Given the description of an element on the screen output the (x, y) to click on. 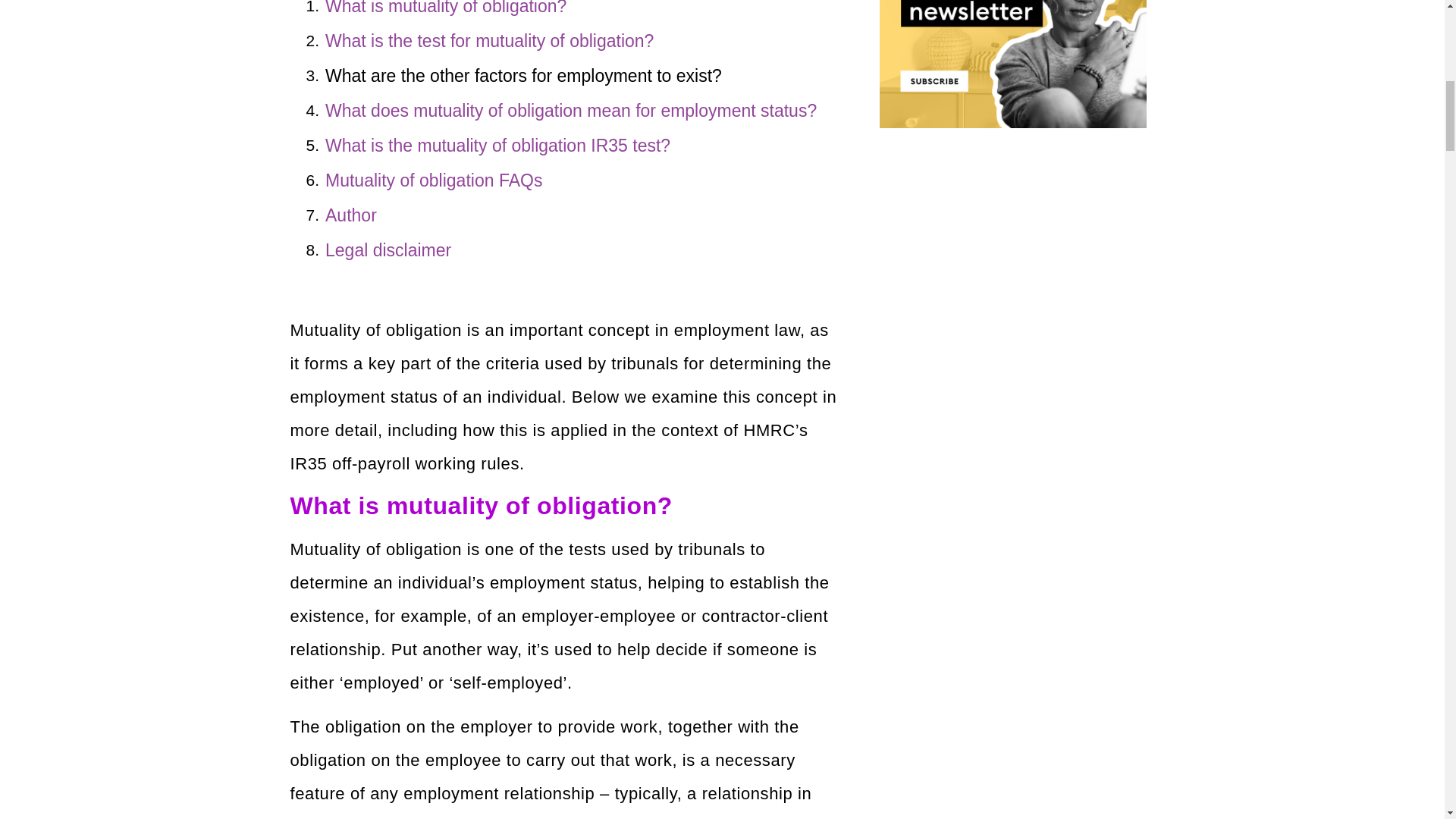
What is the test for mutuality of obligation? (488, 40)
Legal disclaimer (387, 250)
What are the other factors for employment to exist? (523, 76)
What is the mutuality of obligation IR35 test? (496, 145)
Mutuality of obligation FAQs (432, 180)
What is mutuality of obligation? (445, 9)
Author (350, 215)
